Given the description of an element on the screen output the (x, y) to click on. 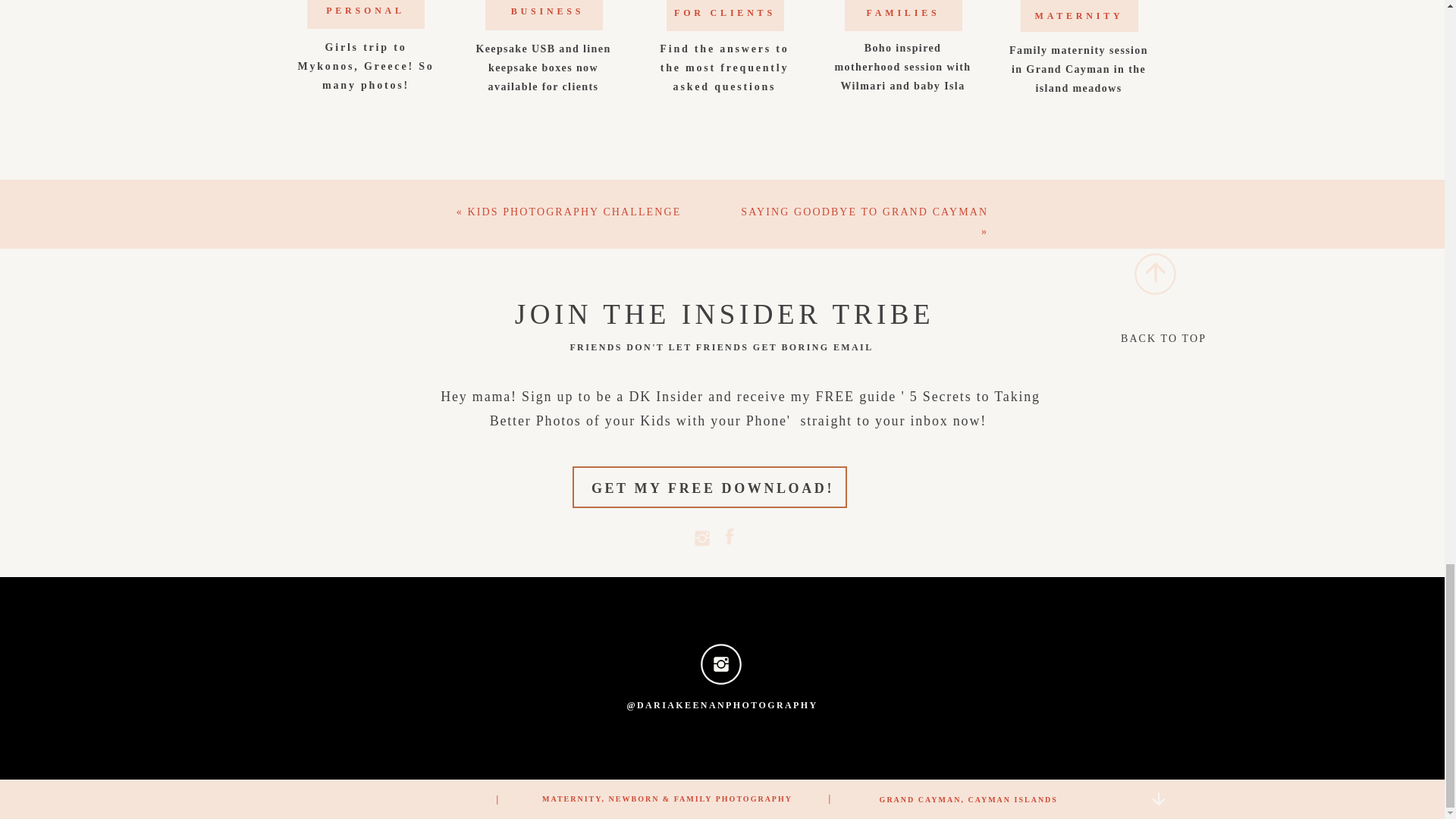
Find the answers to the most frequently asked questions (724, 63)
Boho inspired motherhood session with Wilmari and baby Isla (903, 62)
SAYING GOODBYE TO GRAND CAYMAN (864, 211)
KIDS PHOTOGRAPHY CHALLENGE (574, 211)
Girls trip to Mykonos, Greece! So many photos! (366, 61)
